Given the description of an element on the screen output the (x, y) to click on. 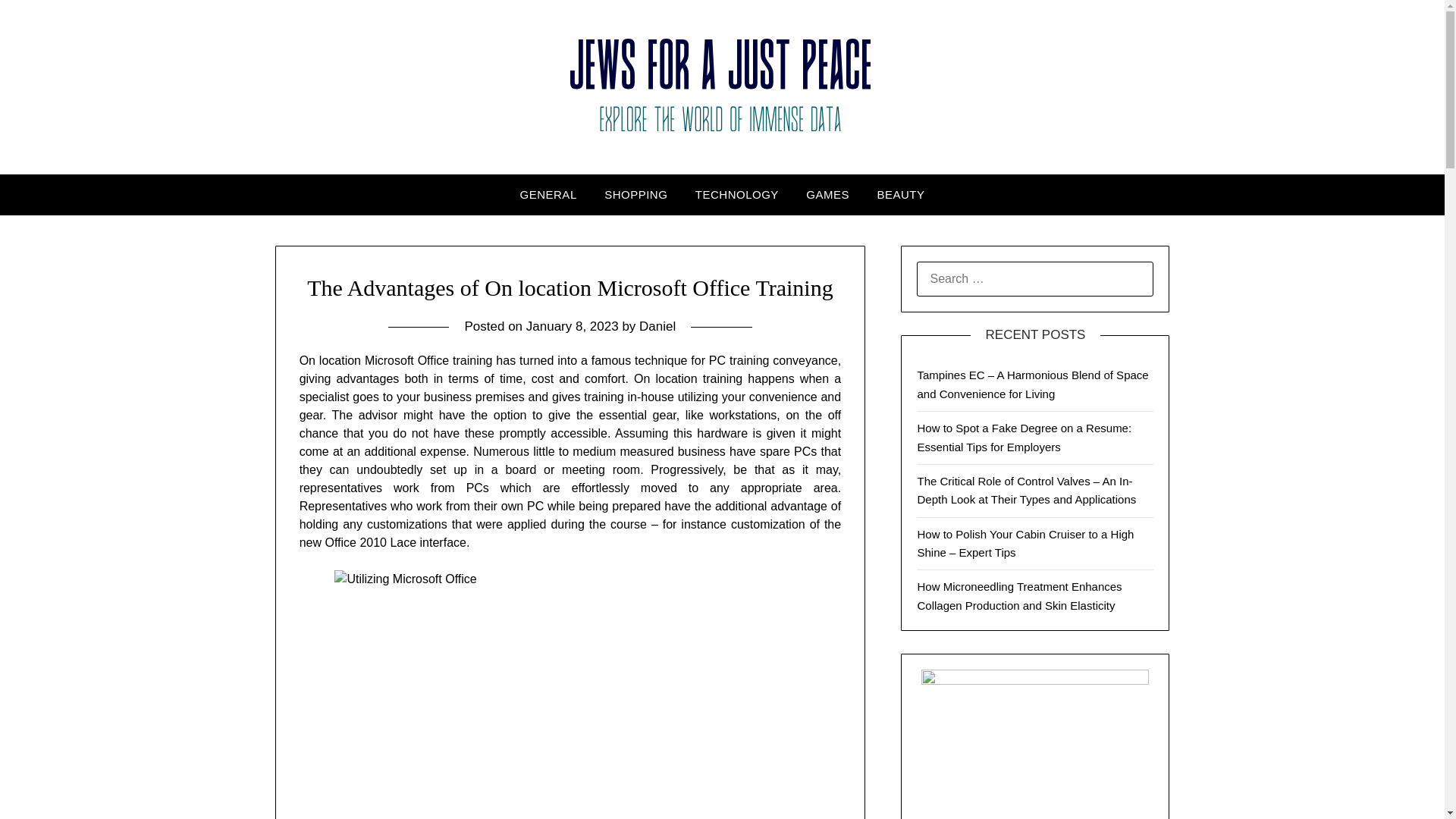
GENERAL (548, 194)
TECHNOLOGY (736, 194)
January 8, 2023 (571, 326)
Search (38, 22)
GAMES (827, 194)
SHOPPING (635, 194)
BEAUTY (900, 194)
Daniel (657, 326)
